Given the description of an element on the screen output the (x, y) to click on. 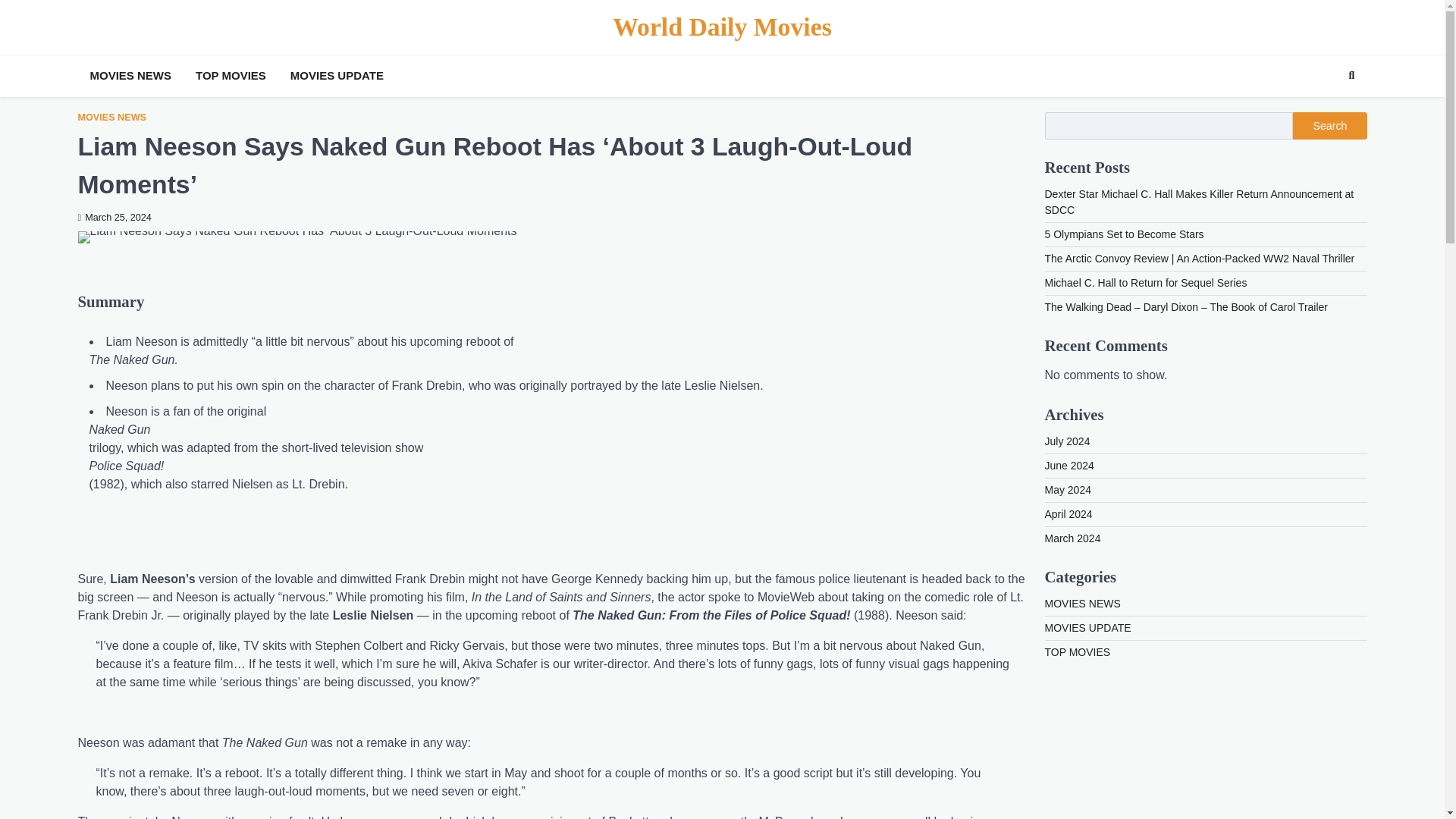
March 2024 (1072, 538)
TOP MOVIES (230, 76)
Search (1323, 111)
World Daily Movies (721, 26)
May 2024 (1067, 490)
Search (1351, 75)
April 2024 (1069, 513)
March 25, 2024 (114, 217)
MOVIES UPDATE (1088, 627)
MOVIES UPDATE (336, 76)
Michael C. Hall to Return for Sequel Series (1146, 282)
MOVIES NEWS (129, 76)
July 2024 (1067, 440)
Search (1329, 125)
